Given the description of an element on the screen output the (x, y) to click on. 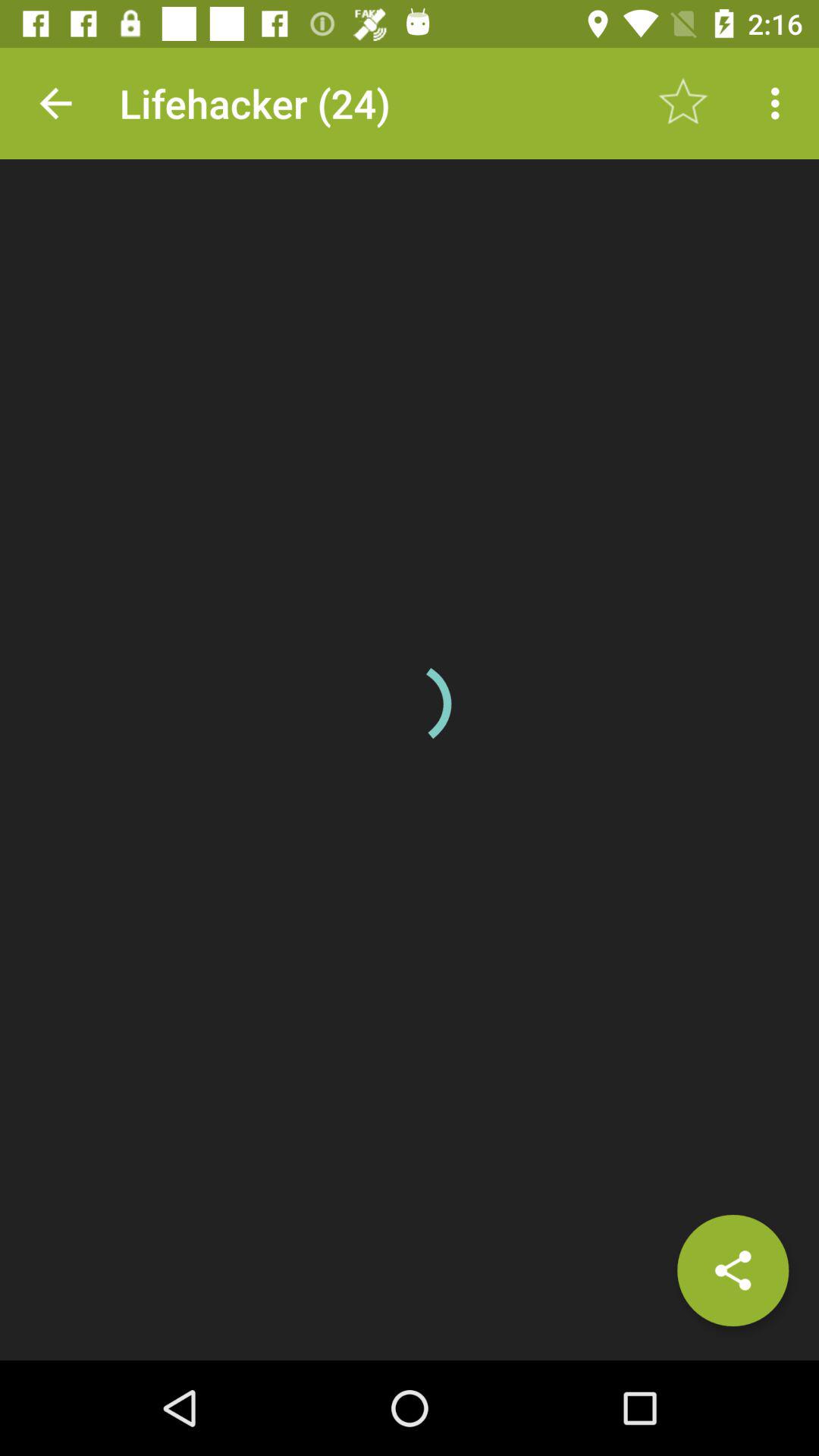
choose icon next to lifehacker (24) item (683, 103)
